Given the description of an element on the screen output the (x, y) to click on. 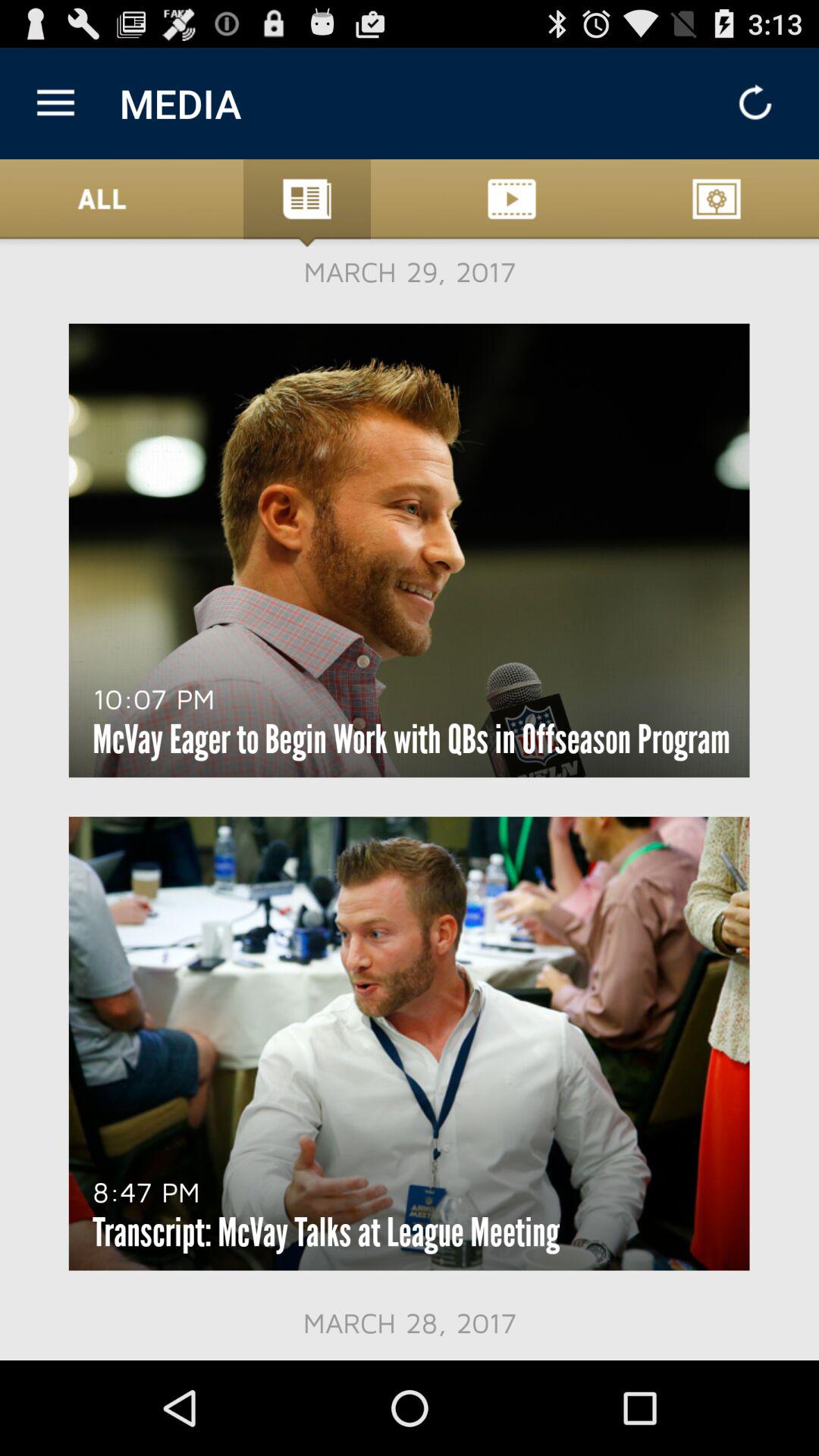
turn off item below 8:47 pm icon (325, 1232)
